Given the description of an element on the screen output the (x, y) to click on. 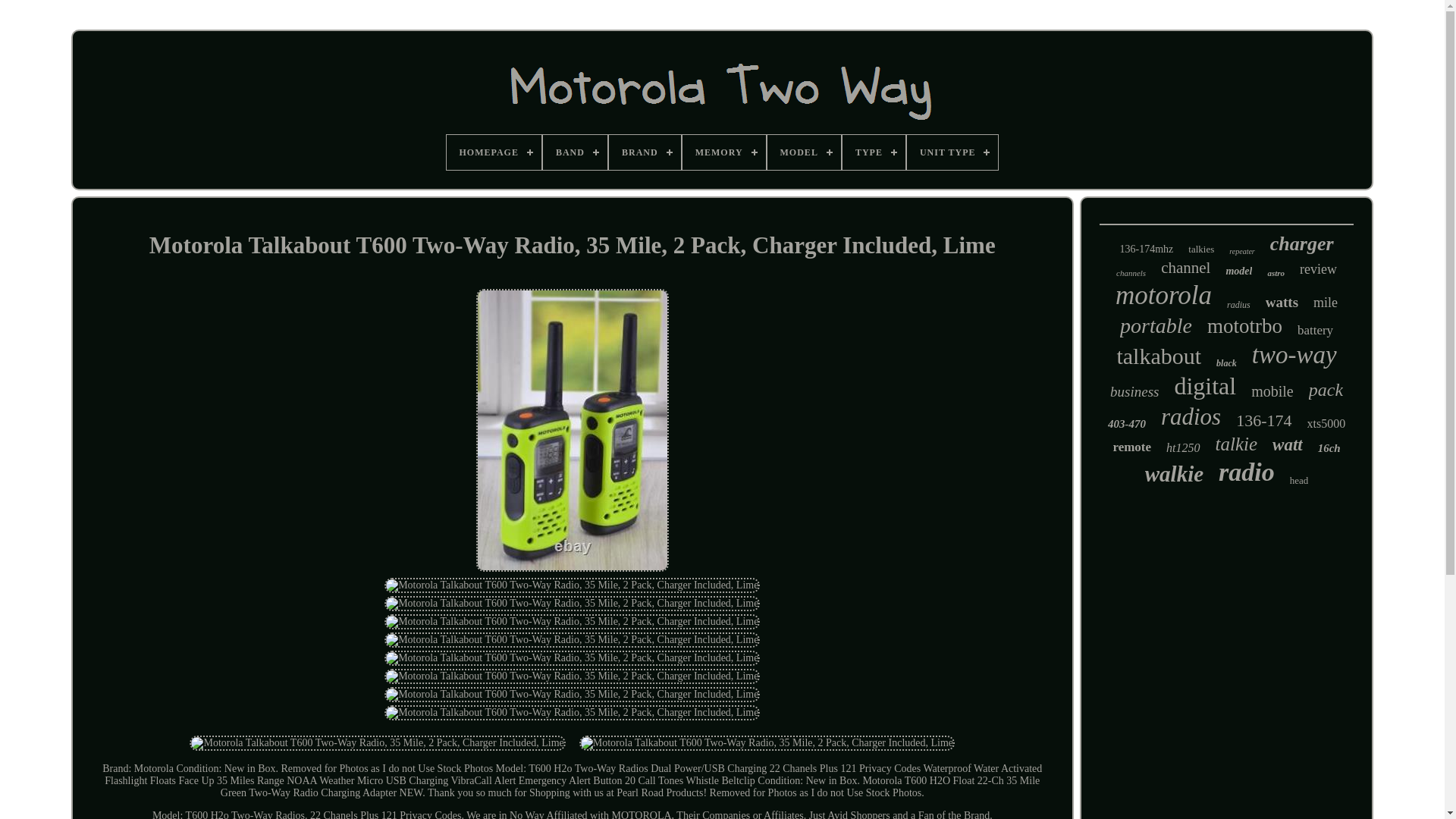
BAND (575, 152)
BRAND (644, 152)
